Given the description of an element on the screen output the (x, y) to click on. 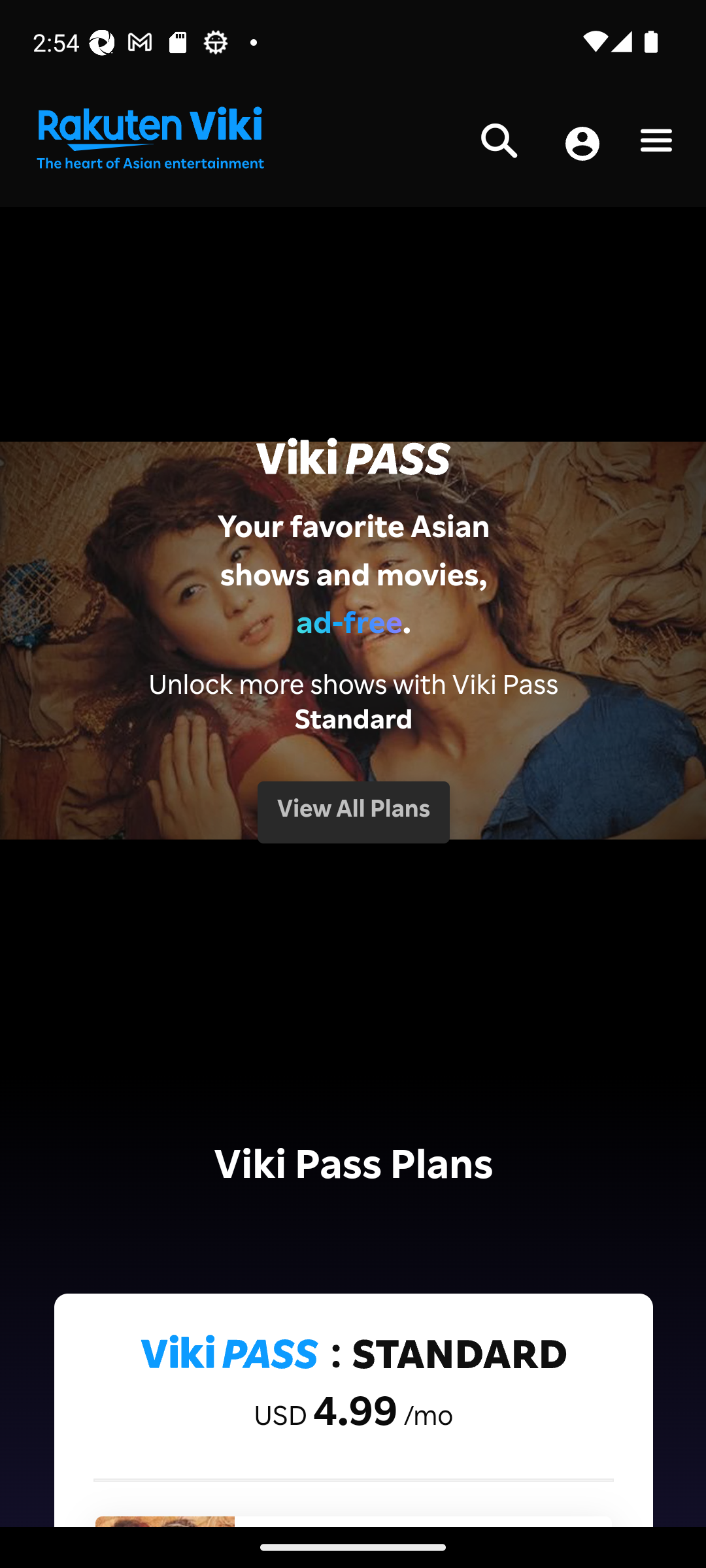
Go to homepage Rakuten Viki (149, 138)
nav.session.login (582, 144)
Settings menu (655, 143)
View All Plans (353, 812)
